Given the description of an element on the screen output the (x, y) to click on. 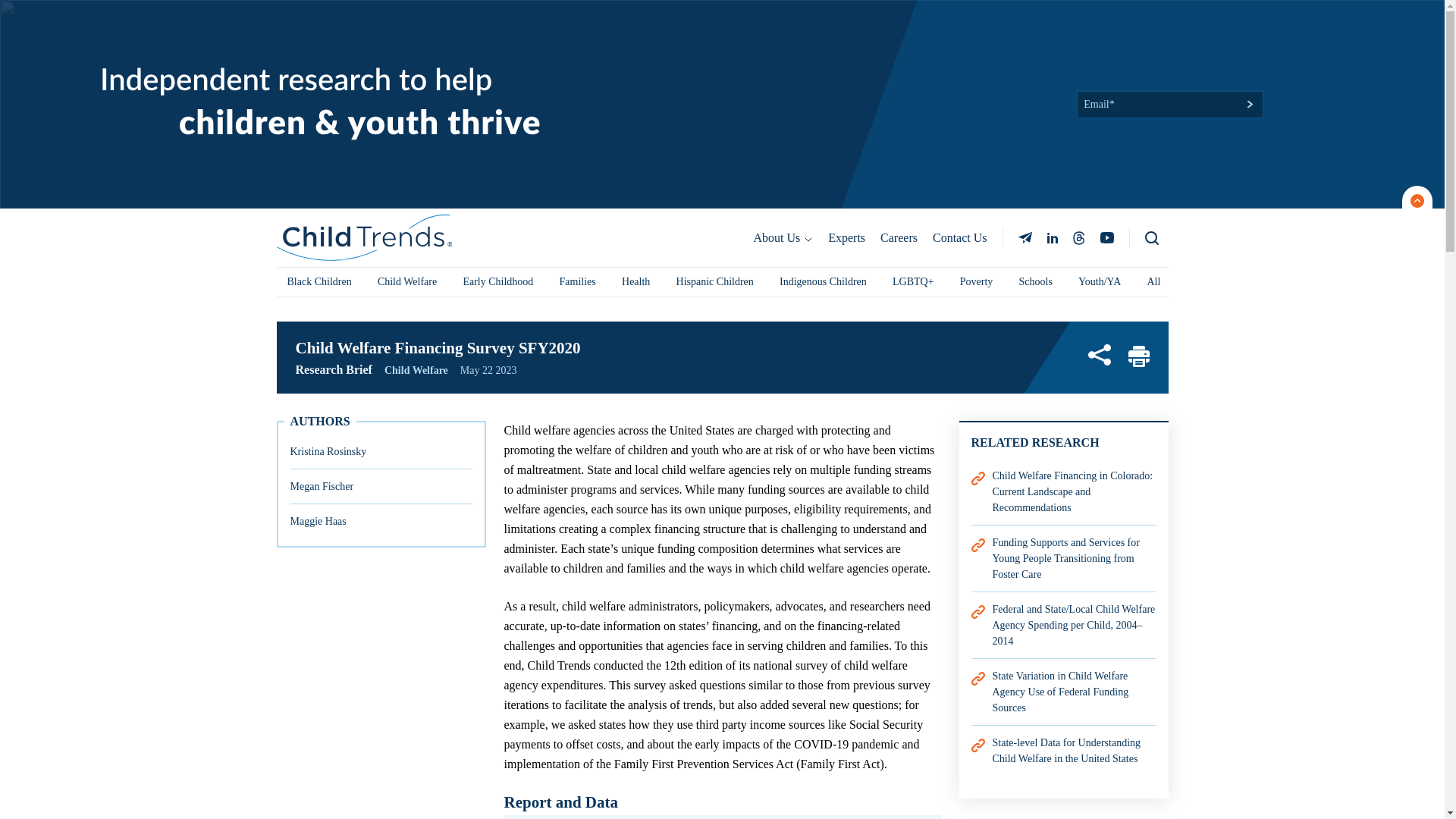
Families (577, 281)
Kristina Rosinsky (327, 451)
Share (1098, 355)
Schools (1035, 281)
Hispanic Children (714, 281)
Threads (1078, 236)
All (1152, 281)
LinkedIn (1051, 237)
Child Welfare (416, 369)
